Given the description of an element on the screen output the (x, y) to click on. 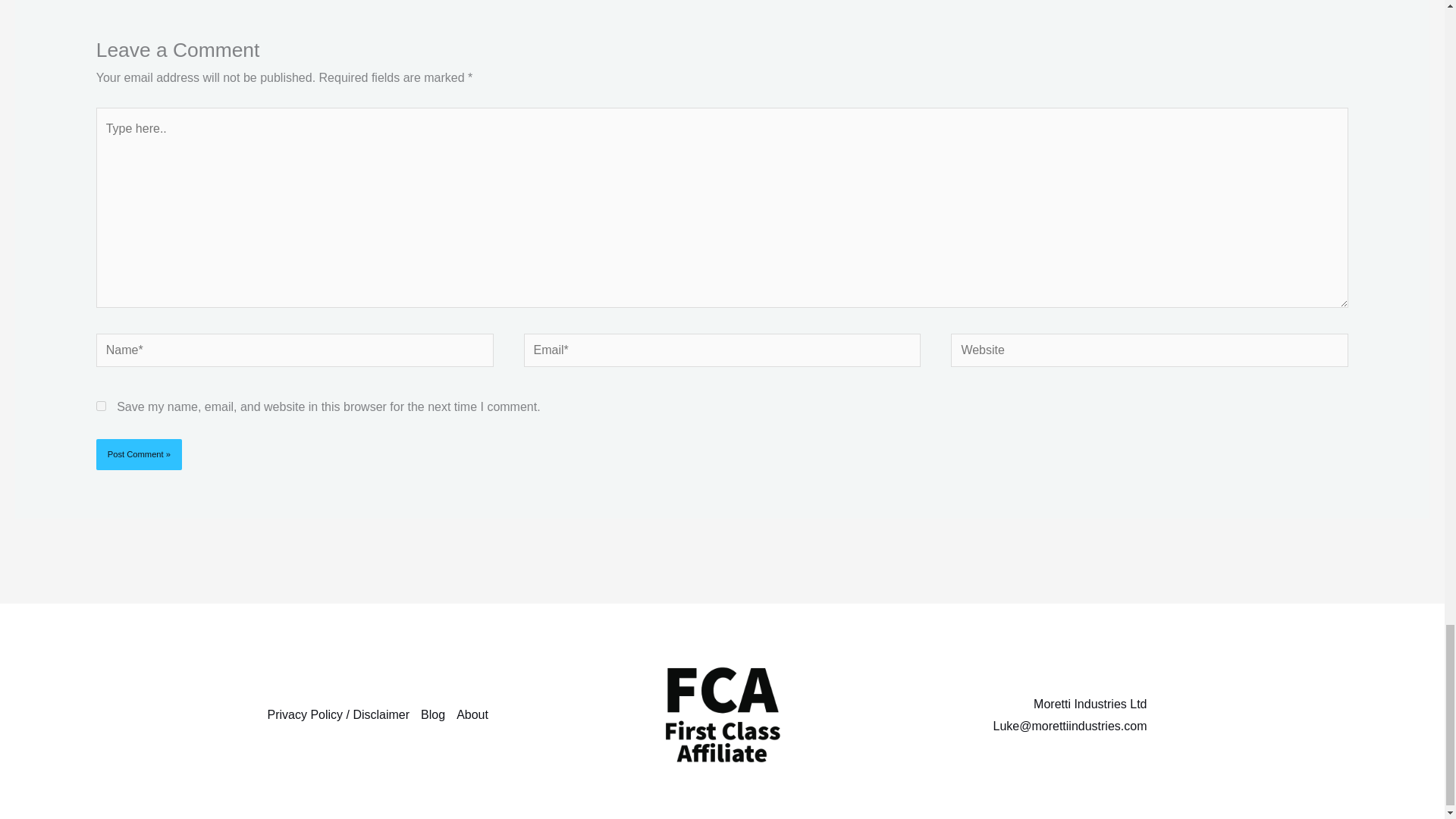
About (478, 714)
yes (101, 406)
Blog (438, 714)
